Given the description of an element on the screen output the (x, y) to click on. 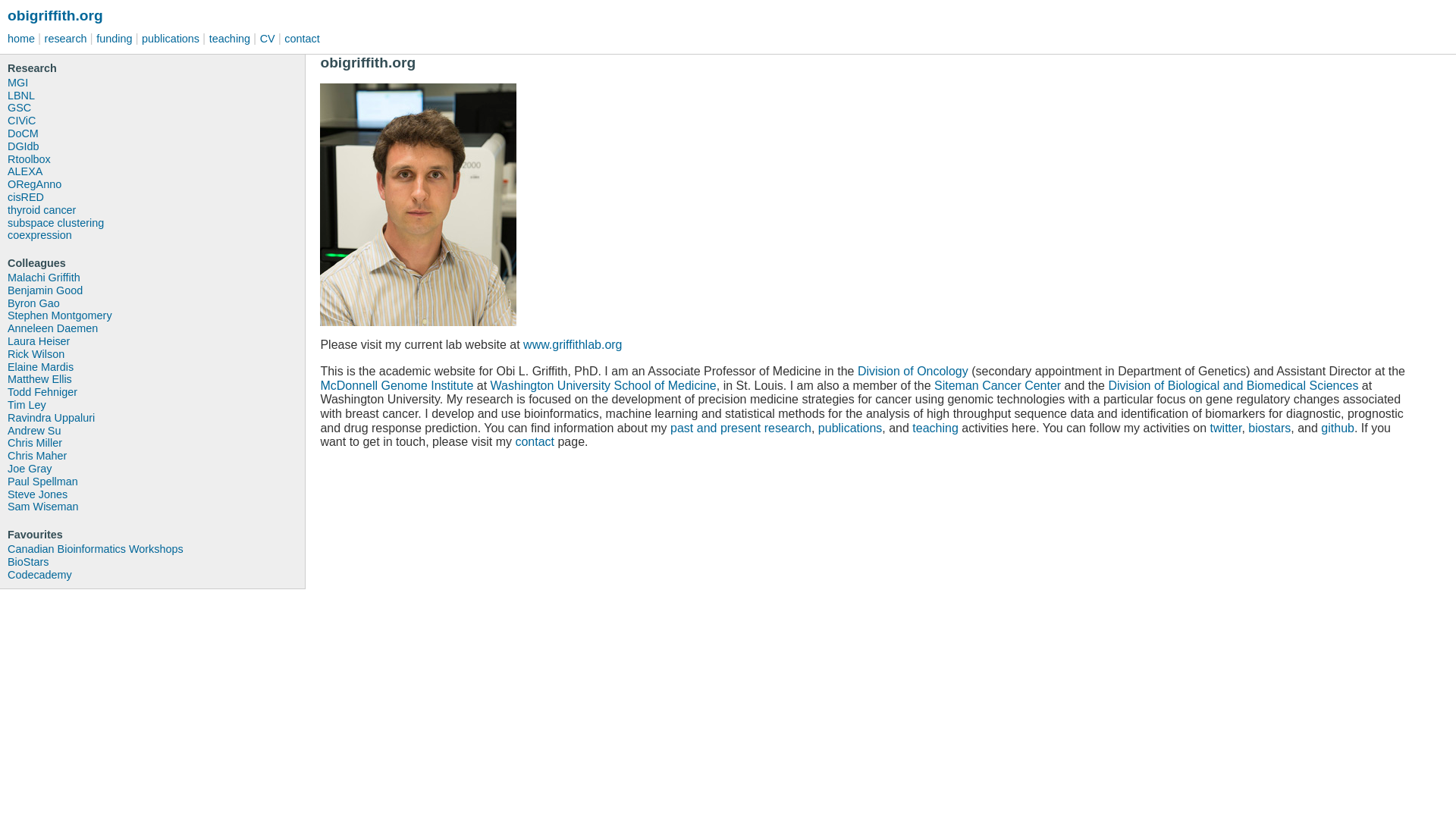
Division of Biological and Biomedical Sciences (1233, 385)
Siteman Cancer Center (997, 385)
LBNL (155, 95)
publications (850, 427)
contact (302, 38)
home (22, 38)
past and present research (739, 427)
Rtoolbox (155, 159)
funding (115, 38)
Anneleen Daemen (155, 328)
